Given the description of an element on the screen output the (x, y) to click on. 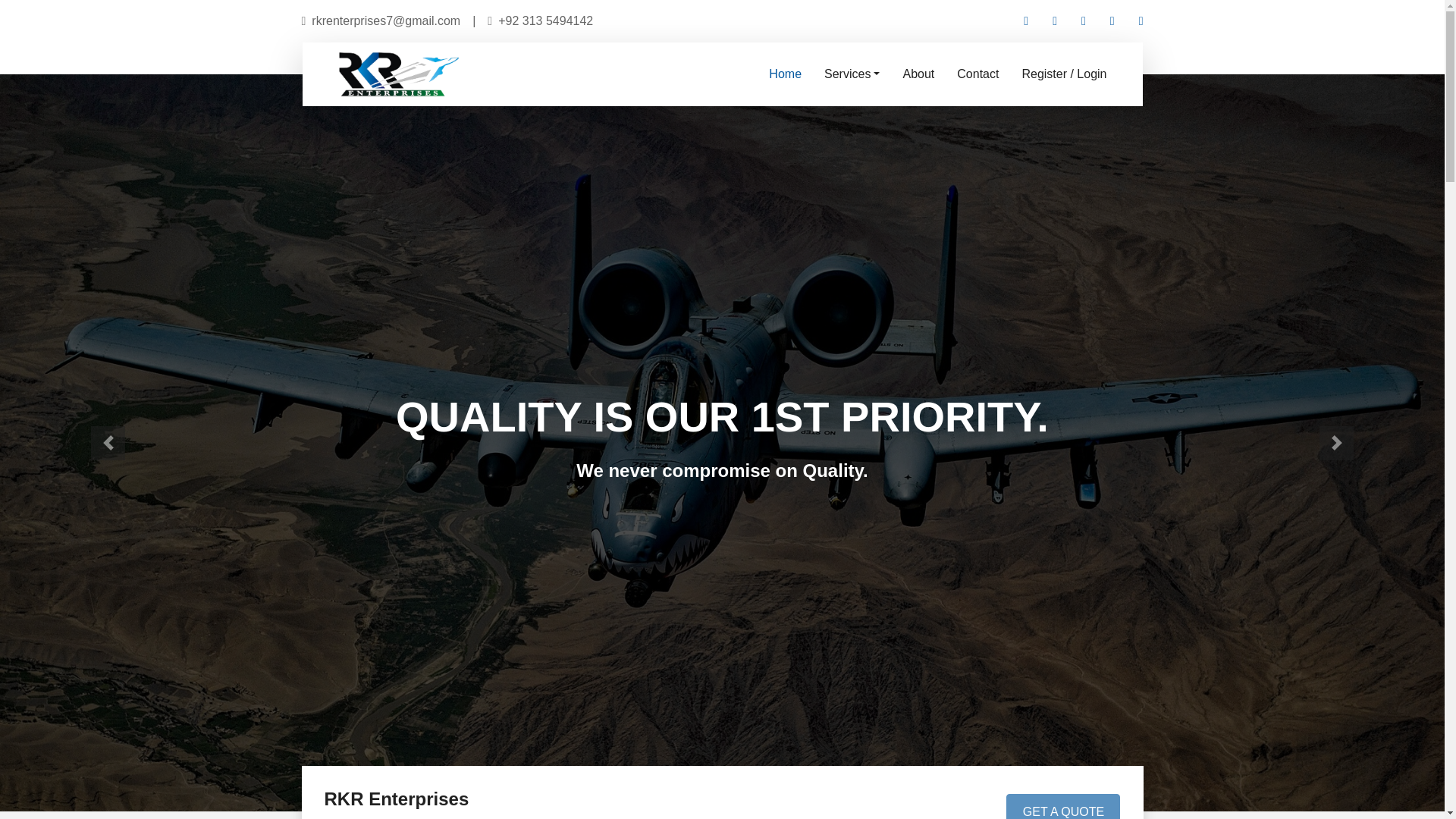
Contact (977, 74)
Services (851, 74)
GET A QUOTE (1062, 806)
